Given the description of an element on the screen output the (x, y) to click on. 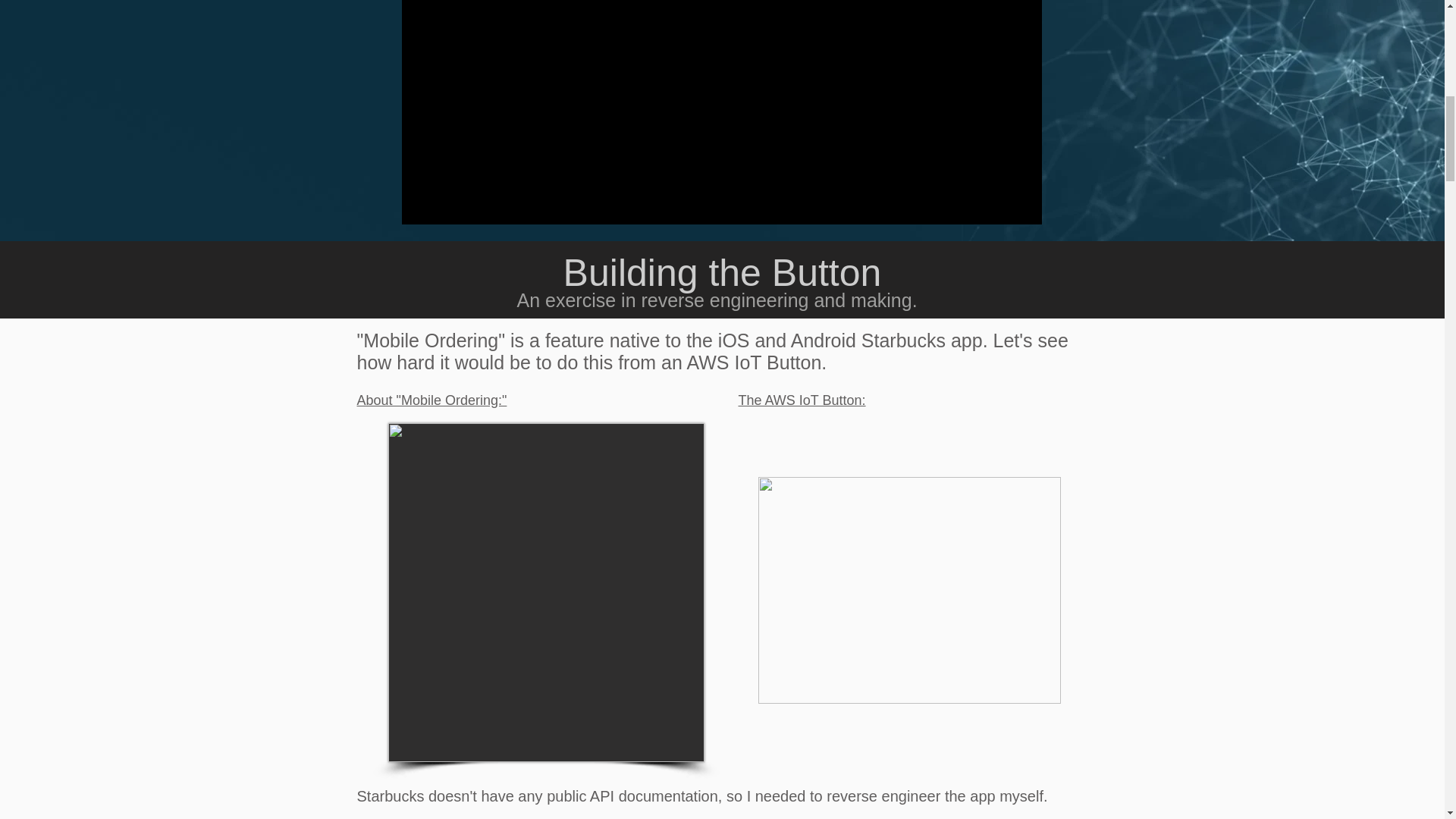
About "Mobile Ordering:" (431, 400)
Screen Shot 2017-03-09 at 11.06.55 AM.png (546, 592)
The AWS IoT Button: (802, 400)
